Given the description of an element on the screen output the (x, y) to click on. 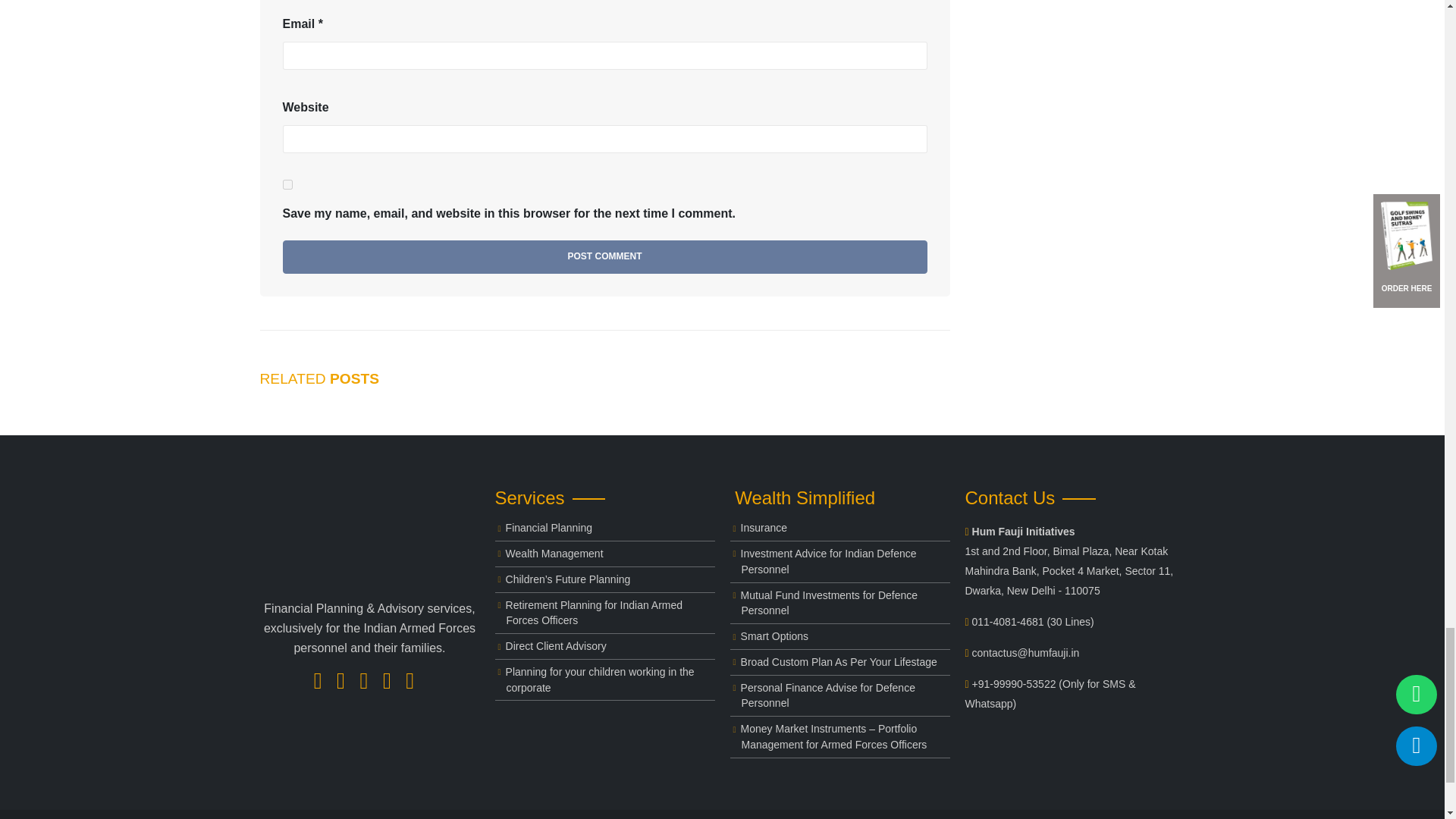
yes (287, 184)
Post Comment (604, 256)
